Given the description of an element on the screen output the (x, y) to click on. 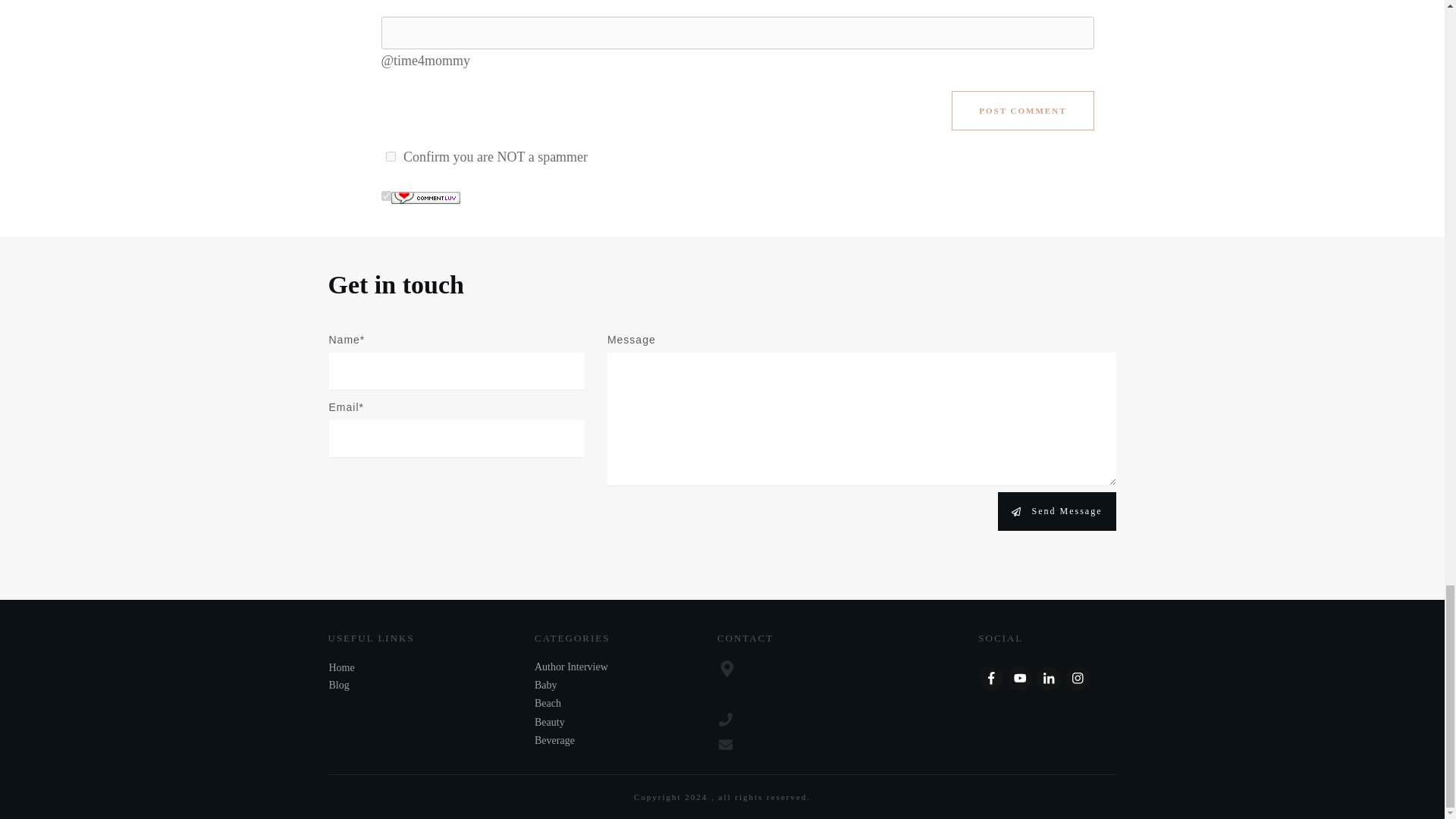
on (385, 195)
on (389, 156)
CommentLuv is enabled (425, 196)
